Given the description of an element on the screen output the (x, y) to click on. 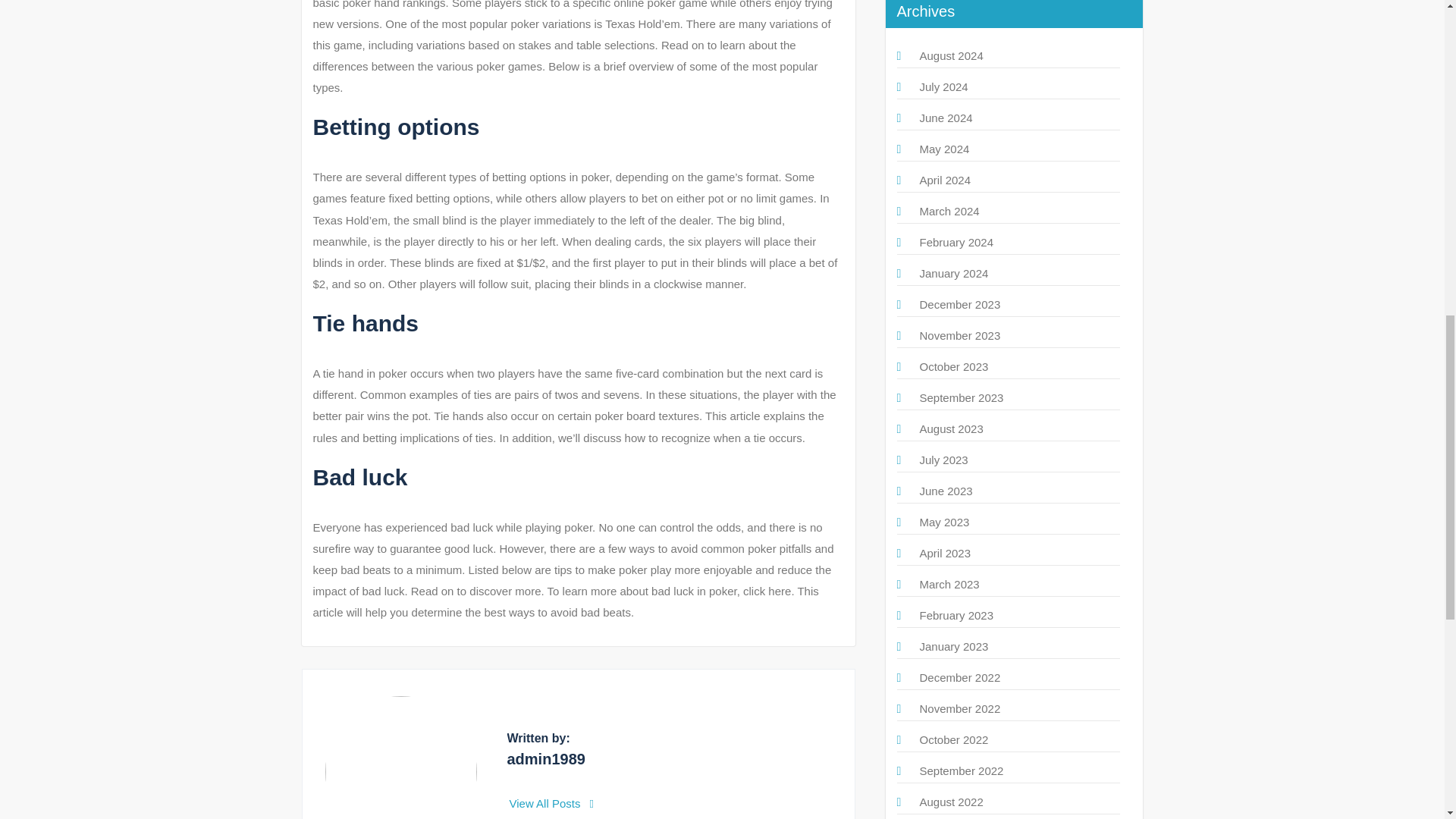
March 2023 (948, 584)
August 2023 (950, 428)
November 2022 (959, 707)
June 2024 (945, 117)
January 2023 (953, 645)
July 2024 (943, 86)
August 2024 (950, 55)
April 2024 (944, 179)
March 2024 (948, 210)
June 2023 (945, 490)
January 2024 (953, 273)
April 2023 (944, 553)
November 2023 (959, 335)
May 2023 (943, 521)
December 2022 (959, 676)
